Given the description of an element on the screen output the (x, y) to click on. 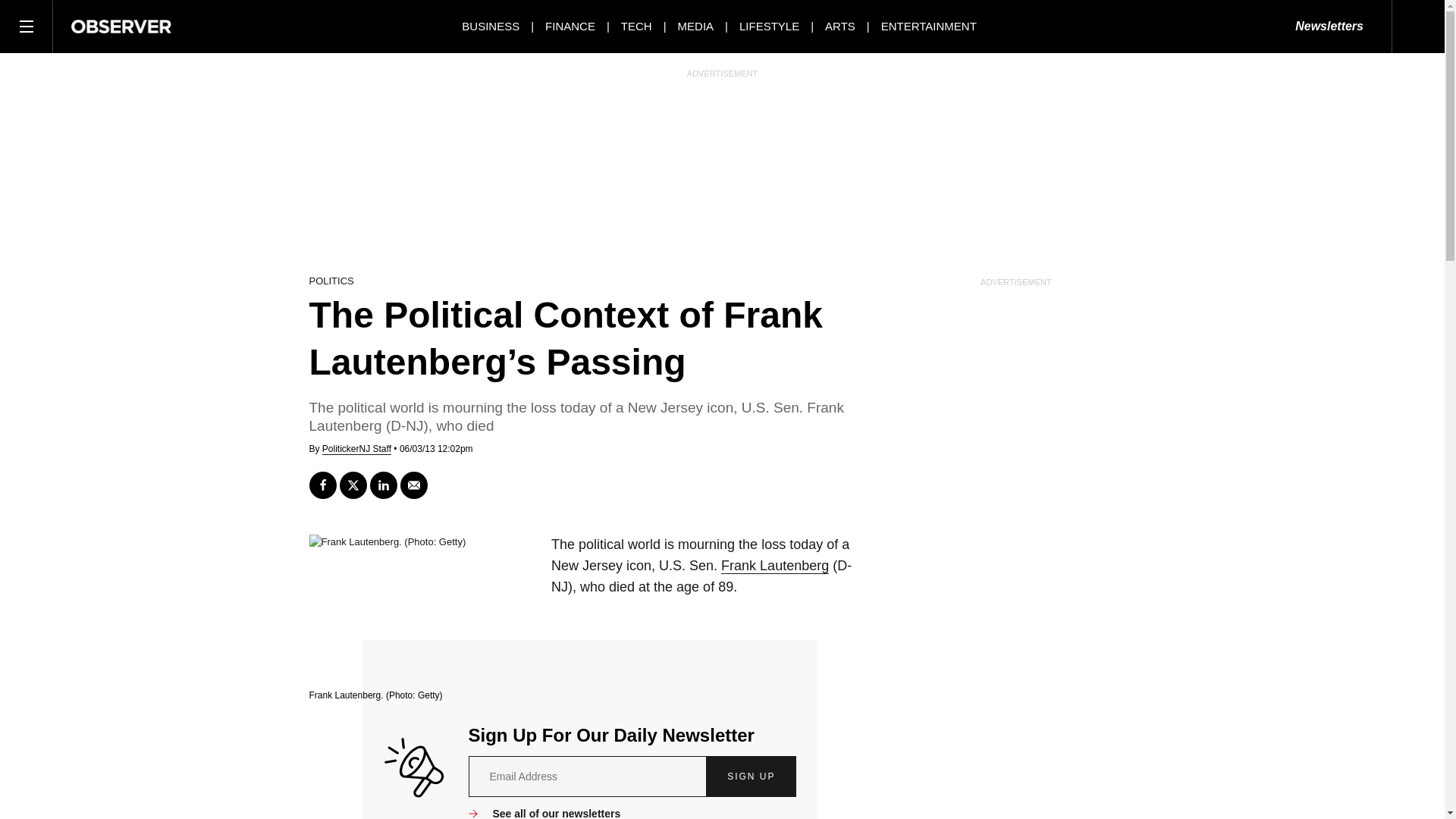
BUSINESS (490, 25)
ENTERTAINMENT (928, 25)
Tweet (352, 484)
View All Posts by PolitickerNJ Staff (356, 449)
Newsletters (1329, 26)
Frank Lautenberg (774, 565)
LIFESTYLE (769, 25)
Observer (121, 26)
MEDIA (696, 25)
Send email (414, 484)
